Given the description of an element on the screen output the (x, y) to click on. 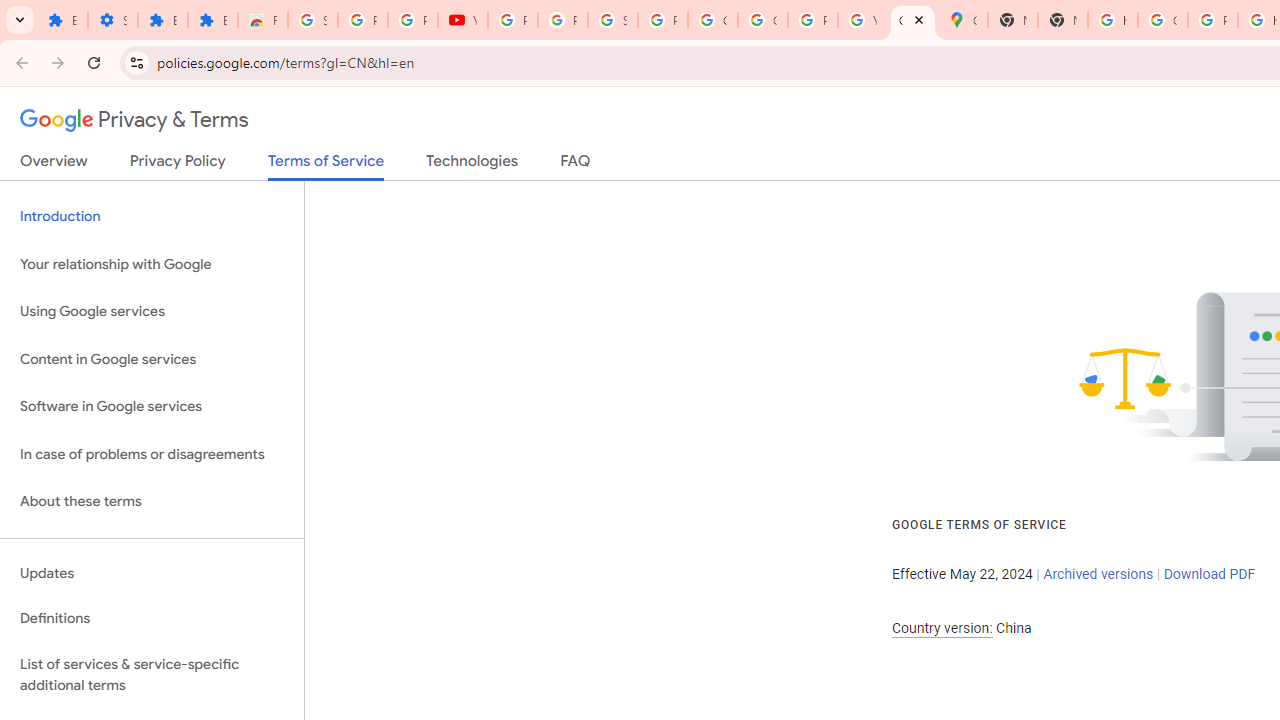
Extensions (213, 20)
Software in Google services (152, 407)
https://scholar.google.com/ (1112, 20)
